Given the description of an element on the screen output the (x, y) to click on. 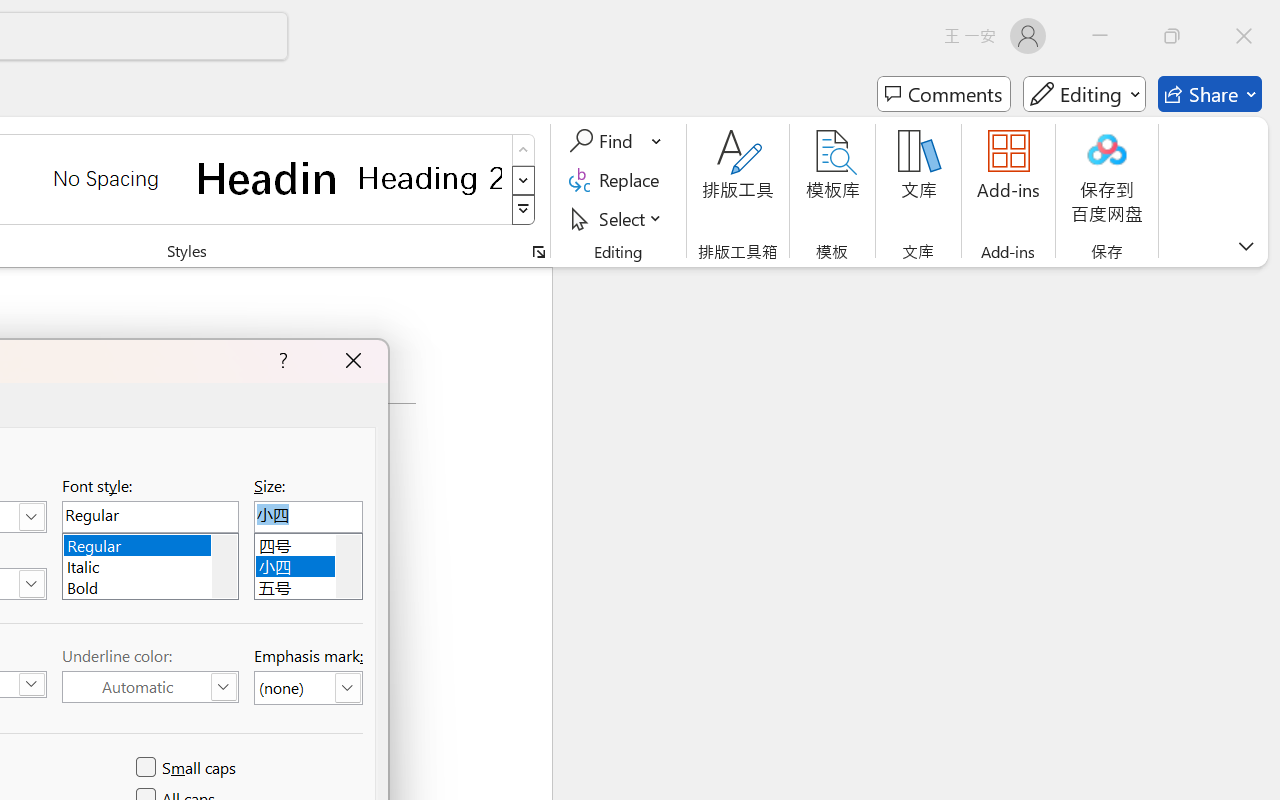
Size: (308, 516)
Select (618, 218)
Font style: (150, 516)
Row Down (523, 180)
Row up (523, 150)
